Given the description of an element on the screen output the (x, y) to click on. 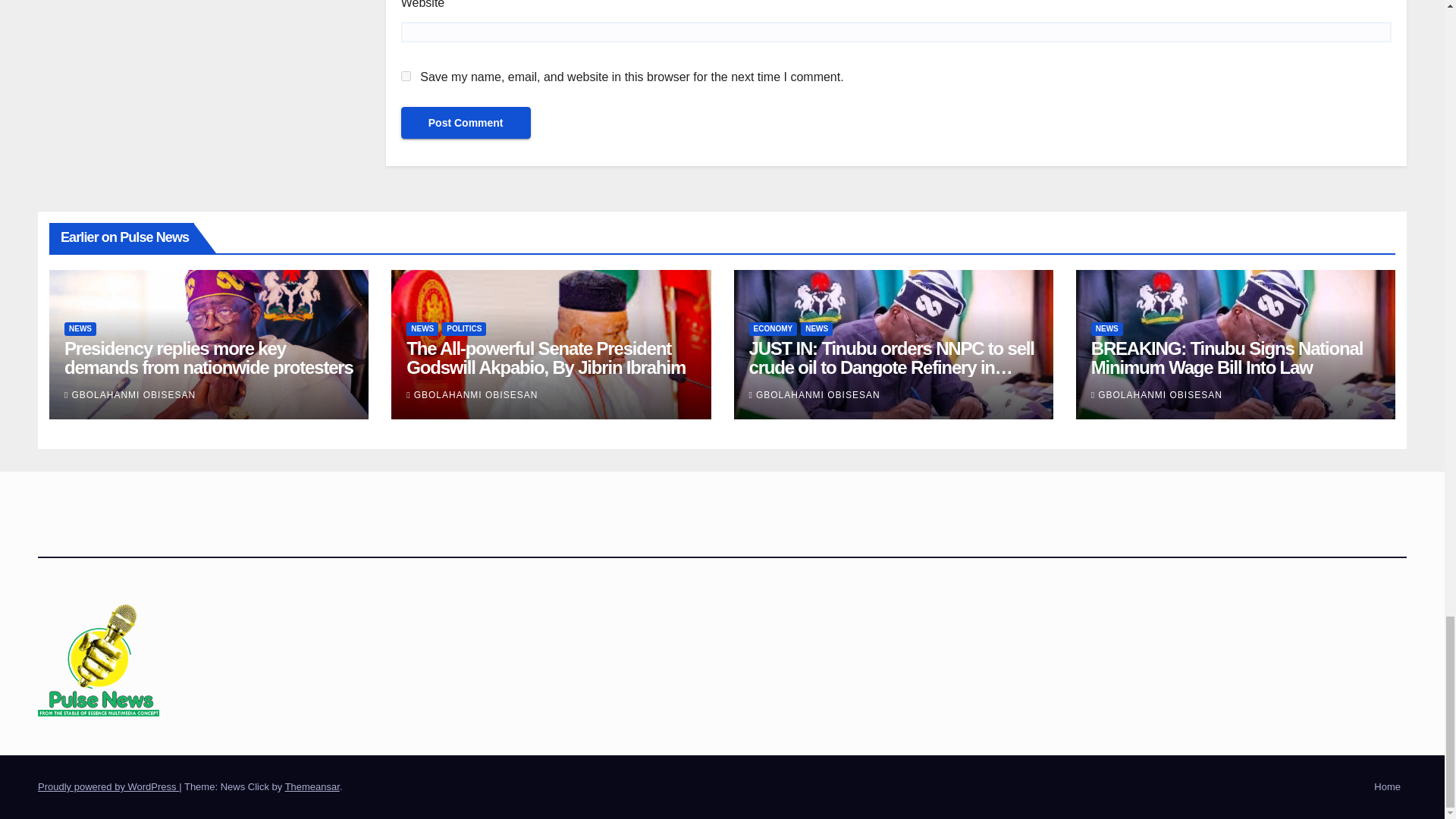
yes (405, 76)
Post Comment (466, 122)
